Given the description of an element on the screen output the (x, y) to click on. 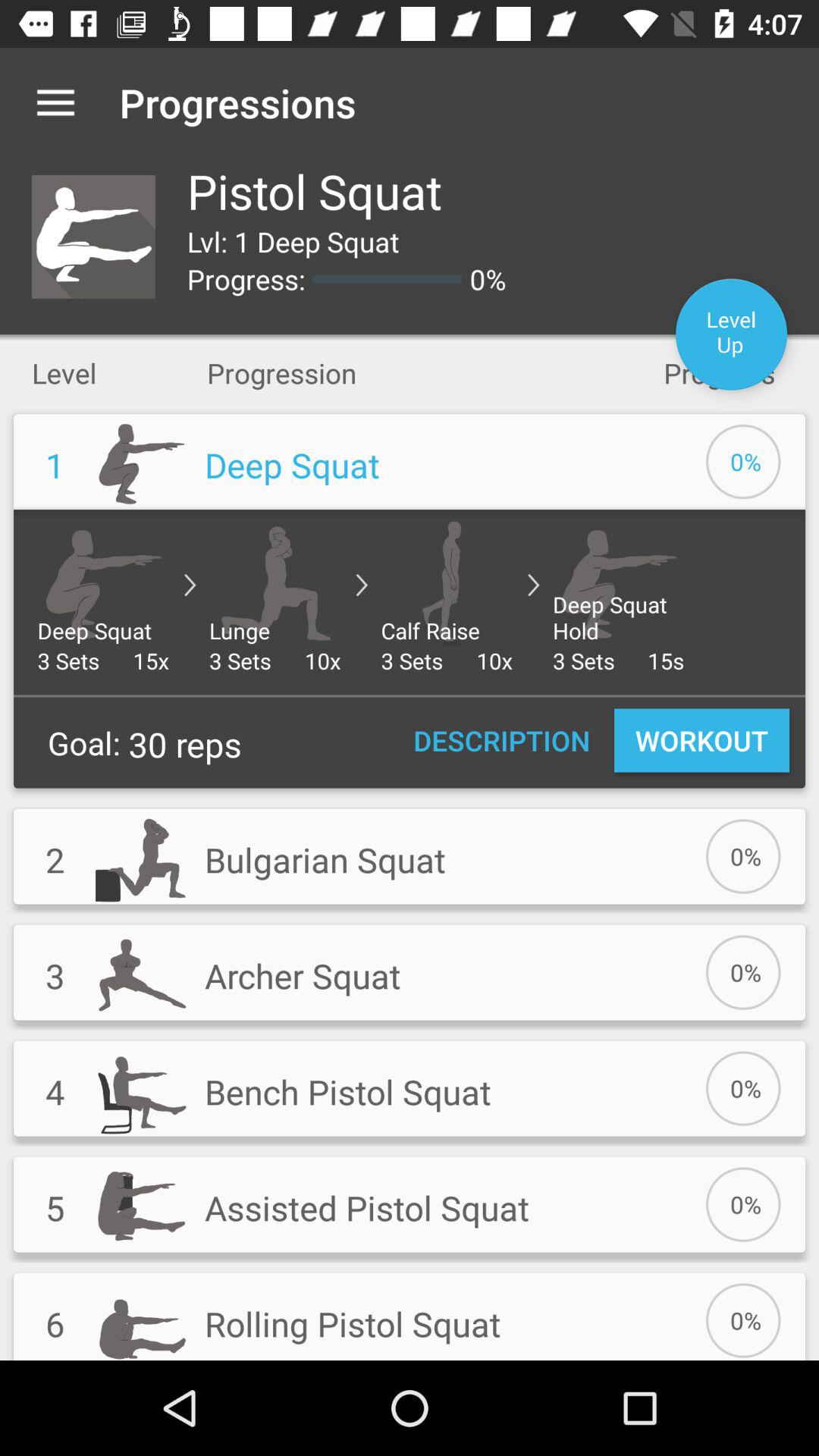
choose the workout (701, 740)
